Given the description of an element on the screen output the (x, y) to click on. 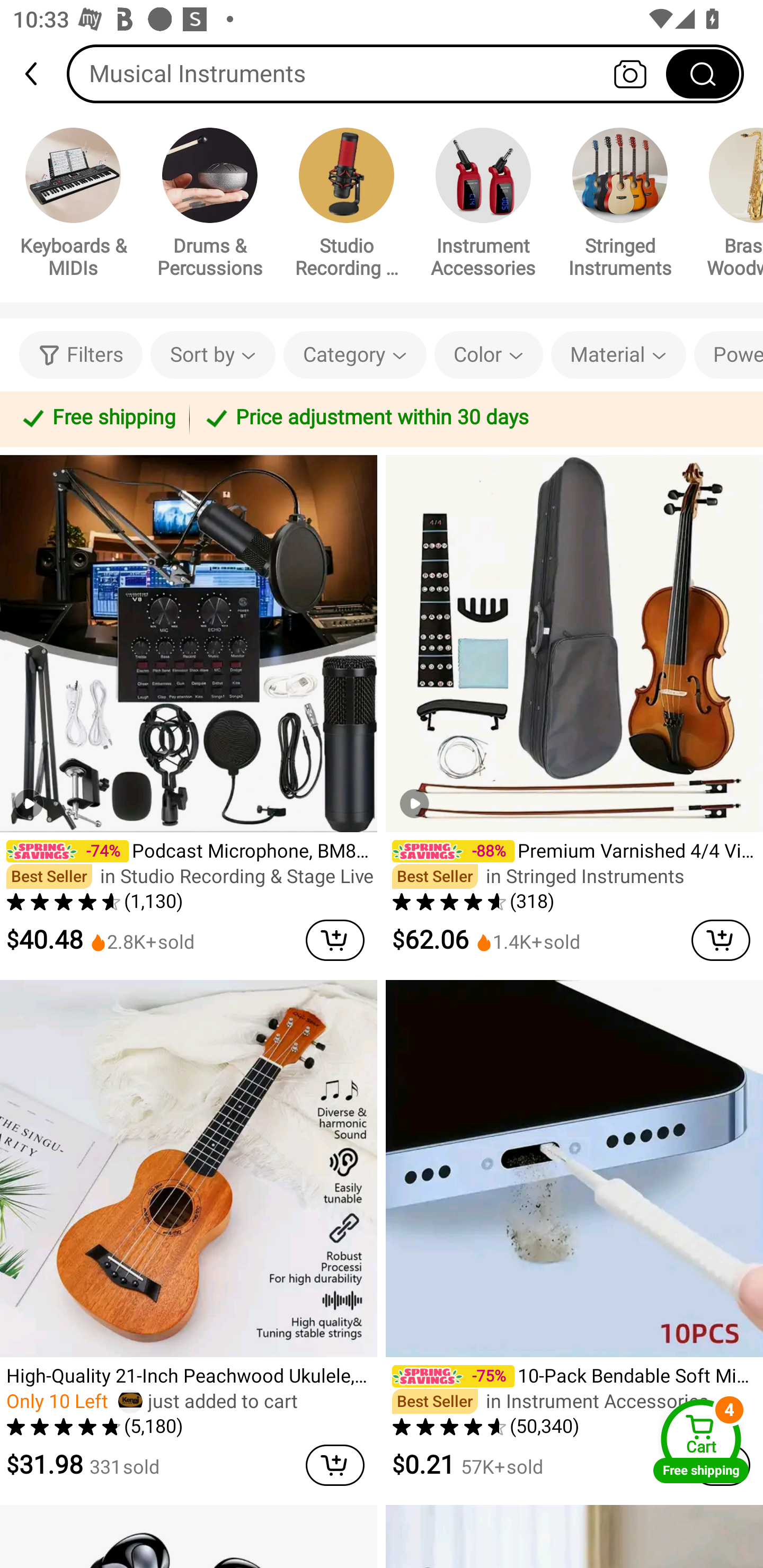
back (39, 73)
Musical Instruments (405, 73)
Keyboards & MIDIs (73, 205)
Drums & Percussions (209, 205)
Studio Recording & Stage Live (346, 205)
Instrument Accessories (483, 205)
Stringed Instruments (619, 205)
Filters (80, 354)
Sort by (212, 354)
Category (354, 354)
Color (488, 354)
Material (617, 354)
Power Mode (728, 354)
Free shipping (97, 418)
Price adjustment within 30 days (472, 418)
cart delete (334, 939)
cart delete (720, 939)
Cart Free shipping Cart (701, 1440)
cart delete (334, 1465)
